Given the description of an element on the screen output the (x, y) to click on. 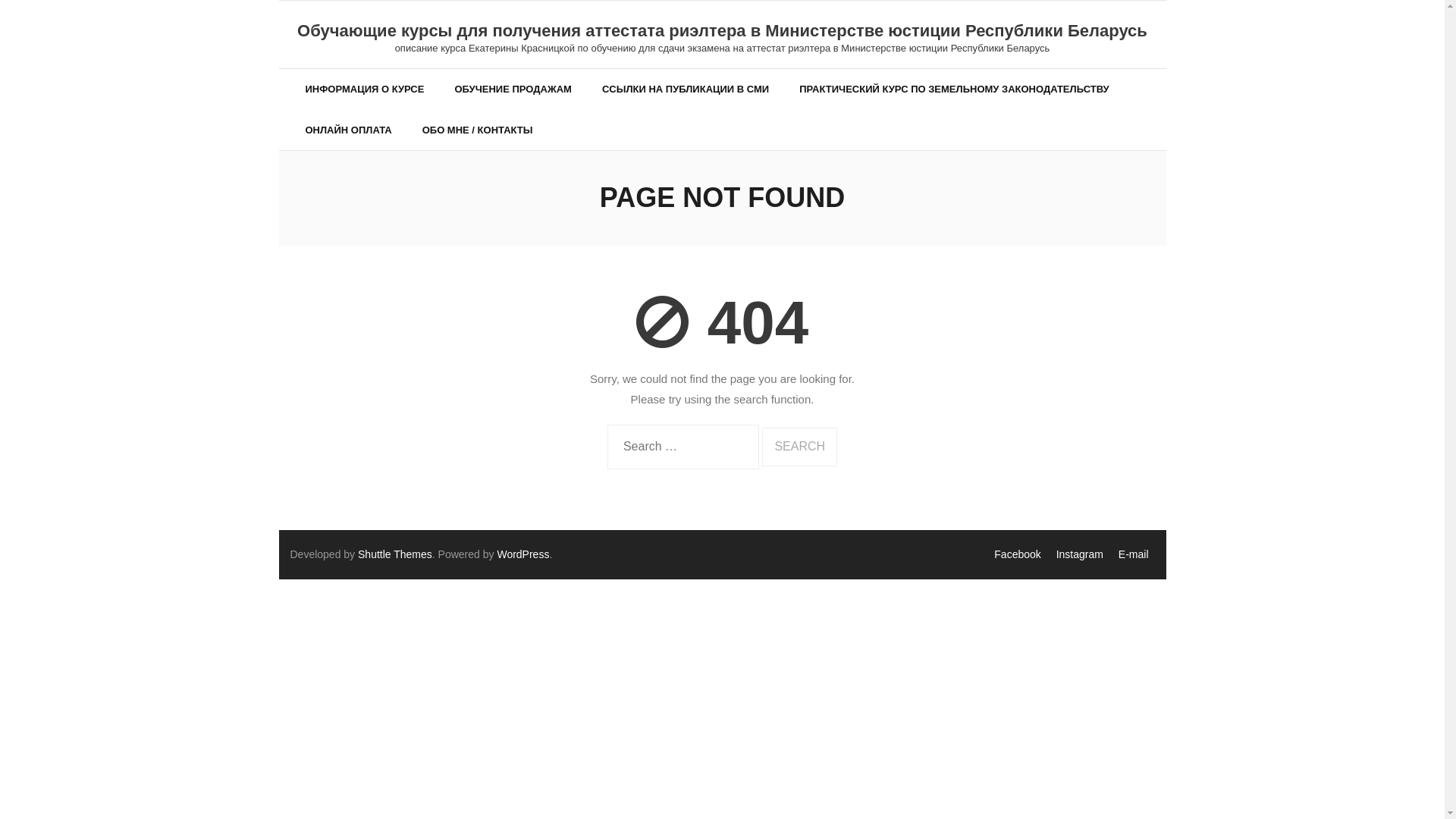
Search Element type: text (799, 446)
E-mail Element type: text (1133, 554)
Shuttle Themes Element type: text (394, 554)
Instagram Element type: text (1079, 554)
Facebook Element type: text (1017, 554)
WordPress Element type: text (522, 554)
